Given the description of an element on the screen output the (x, y) to click on. 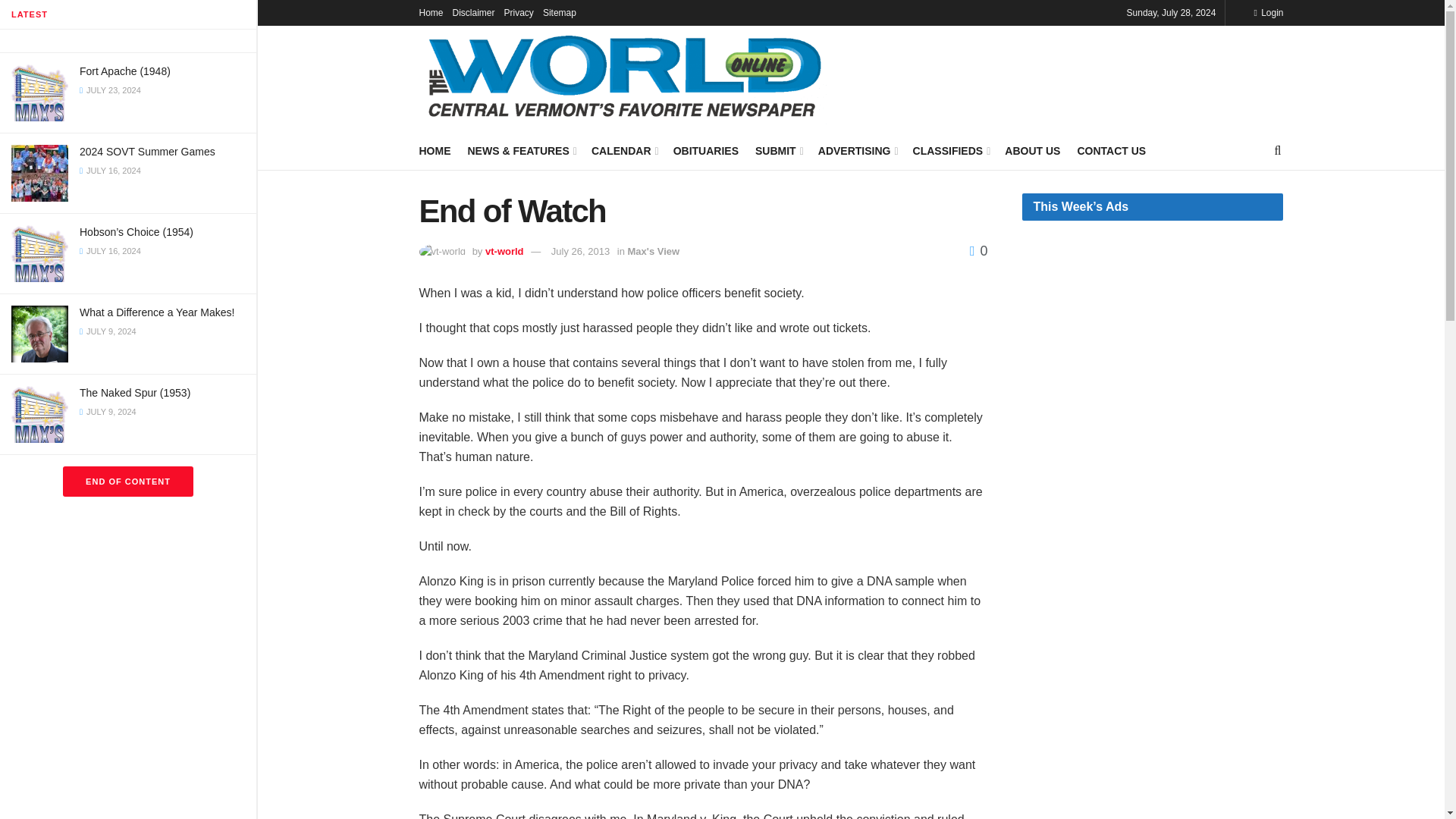
HOME (434, 150)
Login (1267, 12)
2024 SOVT Summer Games (147, 151)
Sitemap (559, 12)
Disclaimer (473, 12)
What a Difference a Year Makes! (157, 312)
Privacy (518, 12)
Home (430, 12)
END OF CONTENT (127, 481)
